Given the description of an element on the screen output the (x, y) to click on. 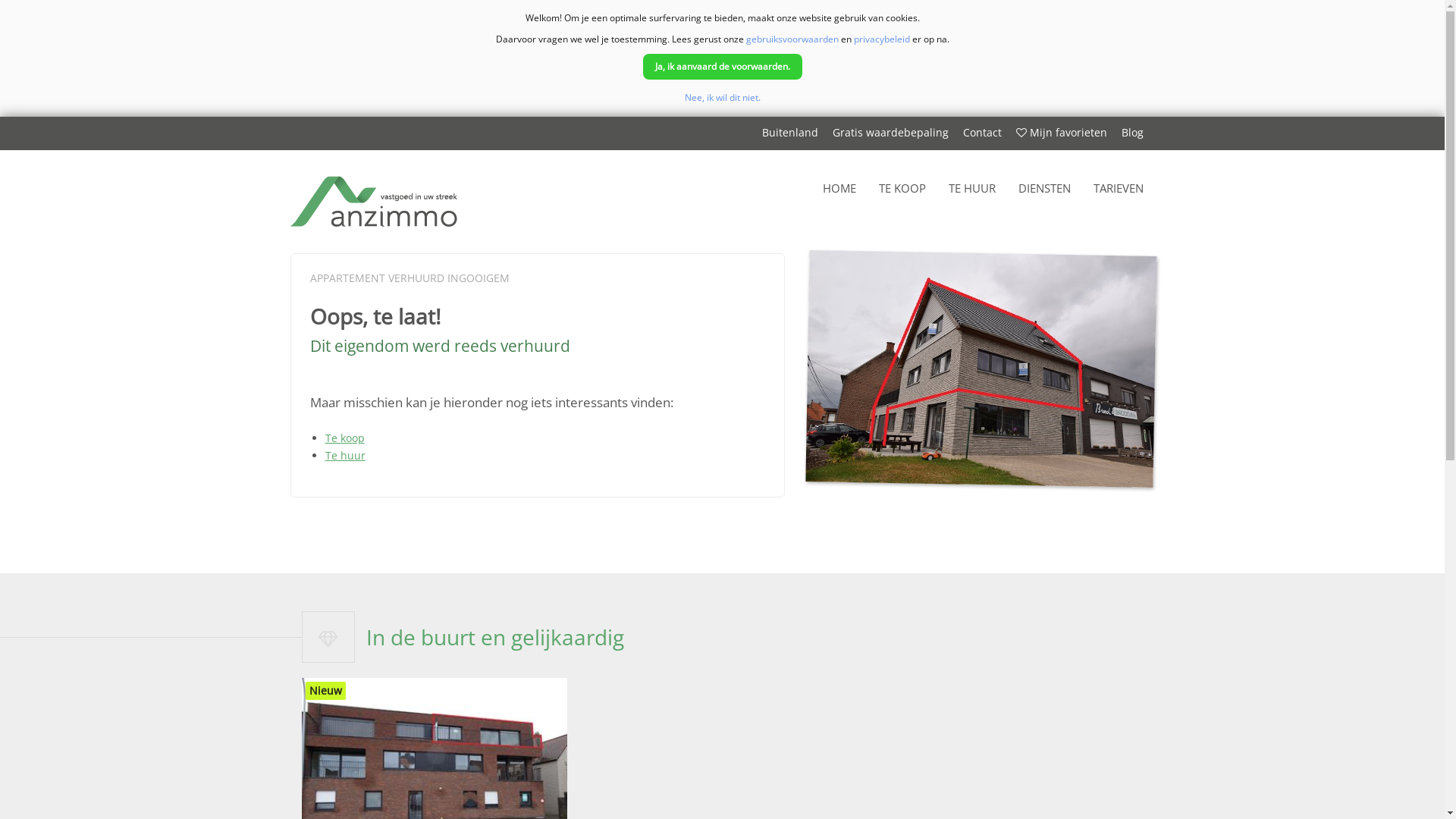
TE HUUR Element type: text (972, 189)
Blog Element type: text (1131, 133)
Ja, ik aanvaard de voorwaarden. Element type: text (722, 66)
gebruiksvoorwaarden Element type: text (792, 38)
Te koop Element type: text (344, 437)
DIENSTEN Element type: text (1044, 189)
privacybeleid Element type: text (881, 38)
Gratis waardebepaling Element type: text (890, 133)
TE KOOP Element type: text (902, 189)
TARIEVEN Element type: text (1117, 189)
Te huur Element type: text (344, 455)
Mijn favorieten Element type: text (1061, 133)
Contact Element type: text (982, 133)
Nee, ik wil dit niet. Element type: text (721, 97)
HOME Element type: text (839, 189)
Buitenland Element type: text (789, 133)
